Given the description of an element on the screen output the (x, y) to click on. 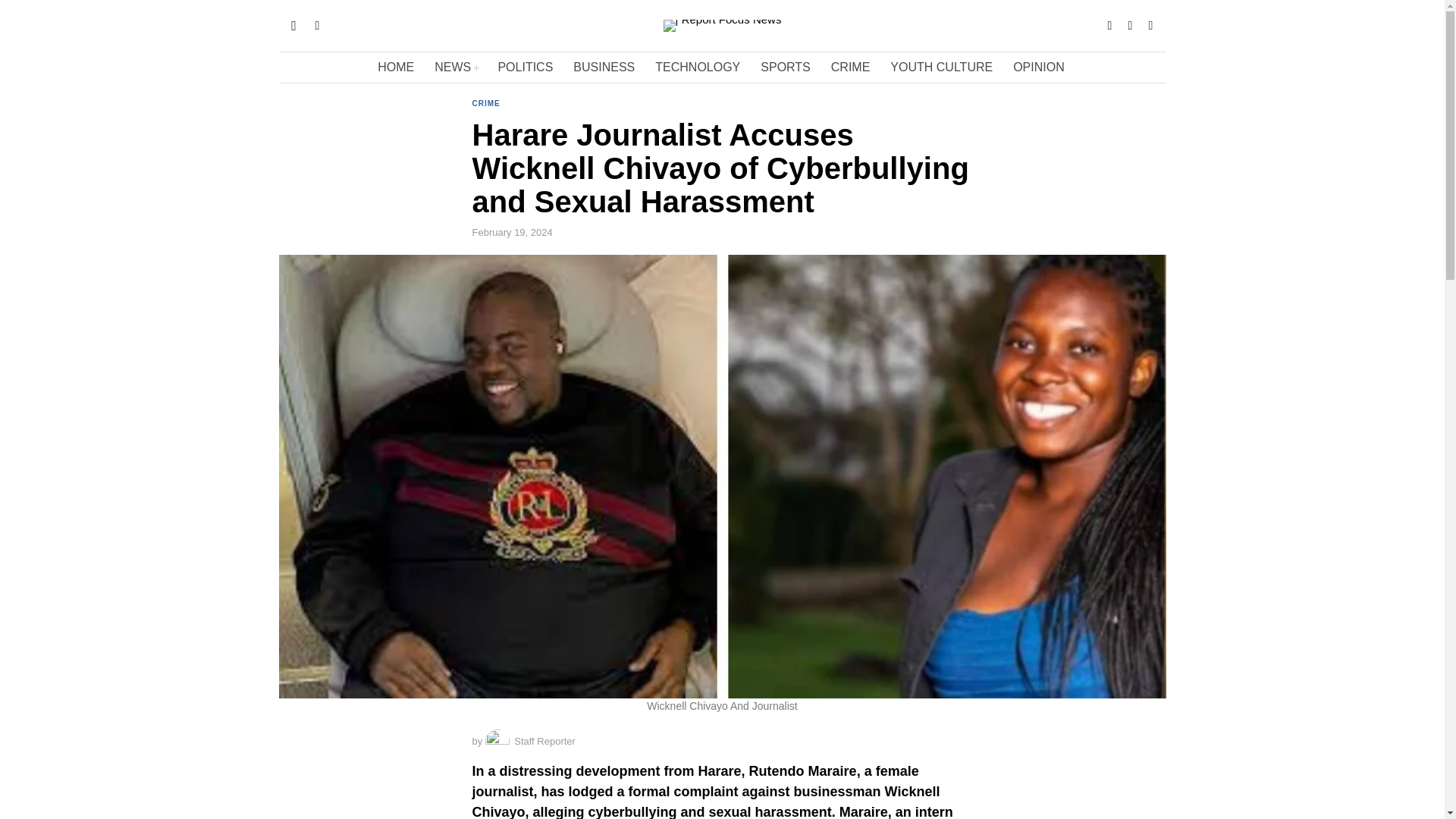
TECHNOLOGY (698, 67)
HOME (396, 67)
POLITICS (525, 67)
SPORTS (786, 67)
CRIME (852, 67)
CRIME (485, 104)
Staff Reporter (529, 741)
NEWS (456, 67)
OPINION (1039, 67)
BUSINESS (605, 67)
